Given the description of an element on the screen output the (x, y) to click on. 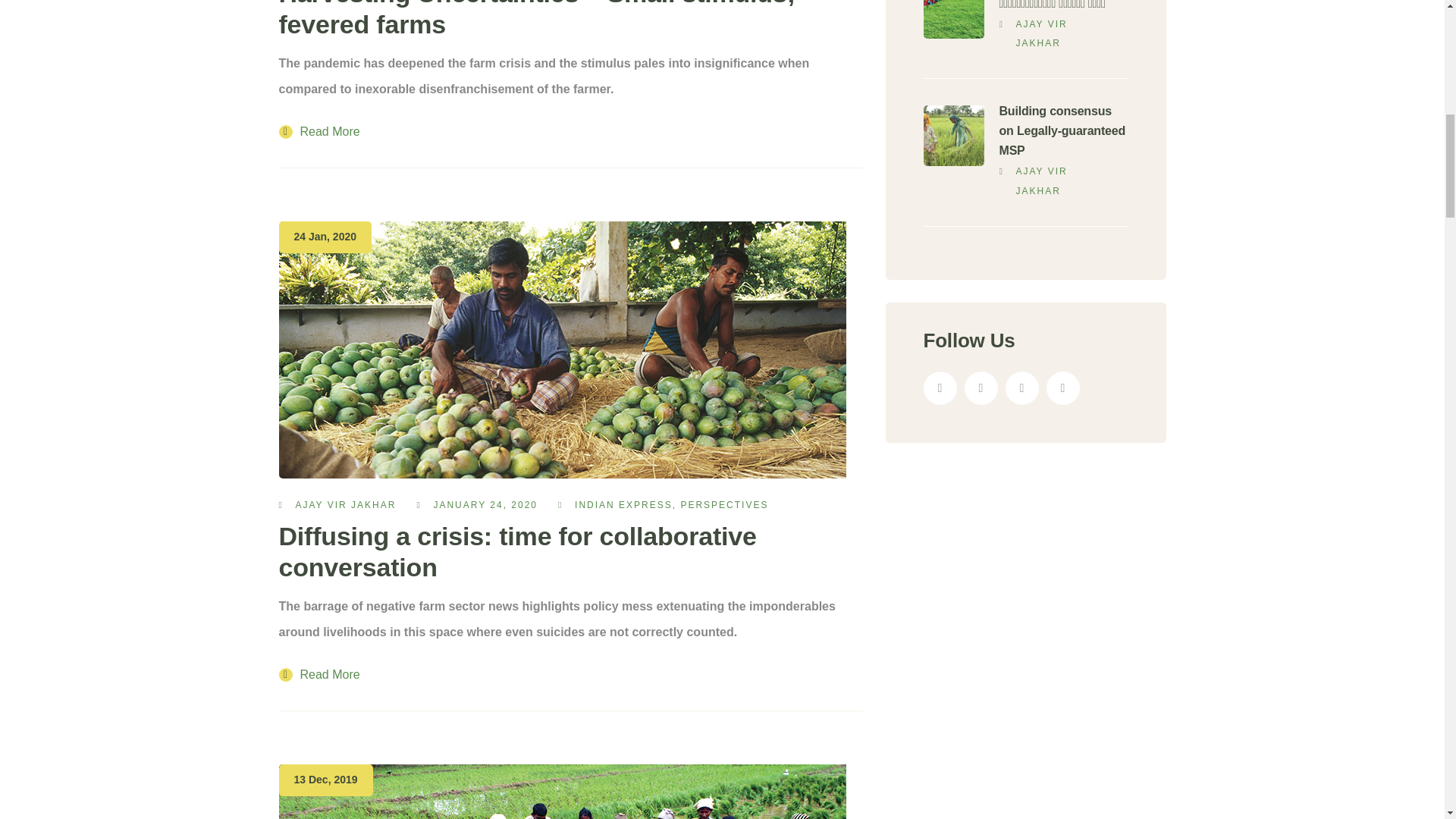
Read More (319, 674)
INDIAN EXPRESS (623, 504)
View all posts by Ajay Vir Jakhar (345, 504)
Read More (319, 131)
PERSPECTIVES (723, 504)
Diffusing a crisis: time for collaborative conversation (518, 551)
AJAY VIR JAKHAR (345, 504)
Read More (319, 674)
Read More (319, 131)
